Given the description of an element on the screen output the (x, y) to click on. 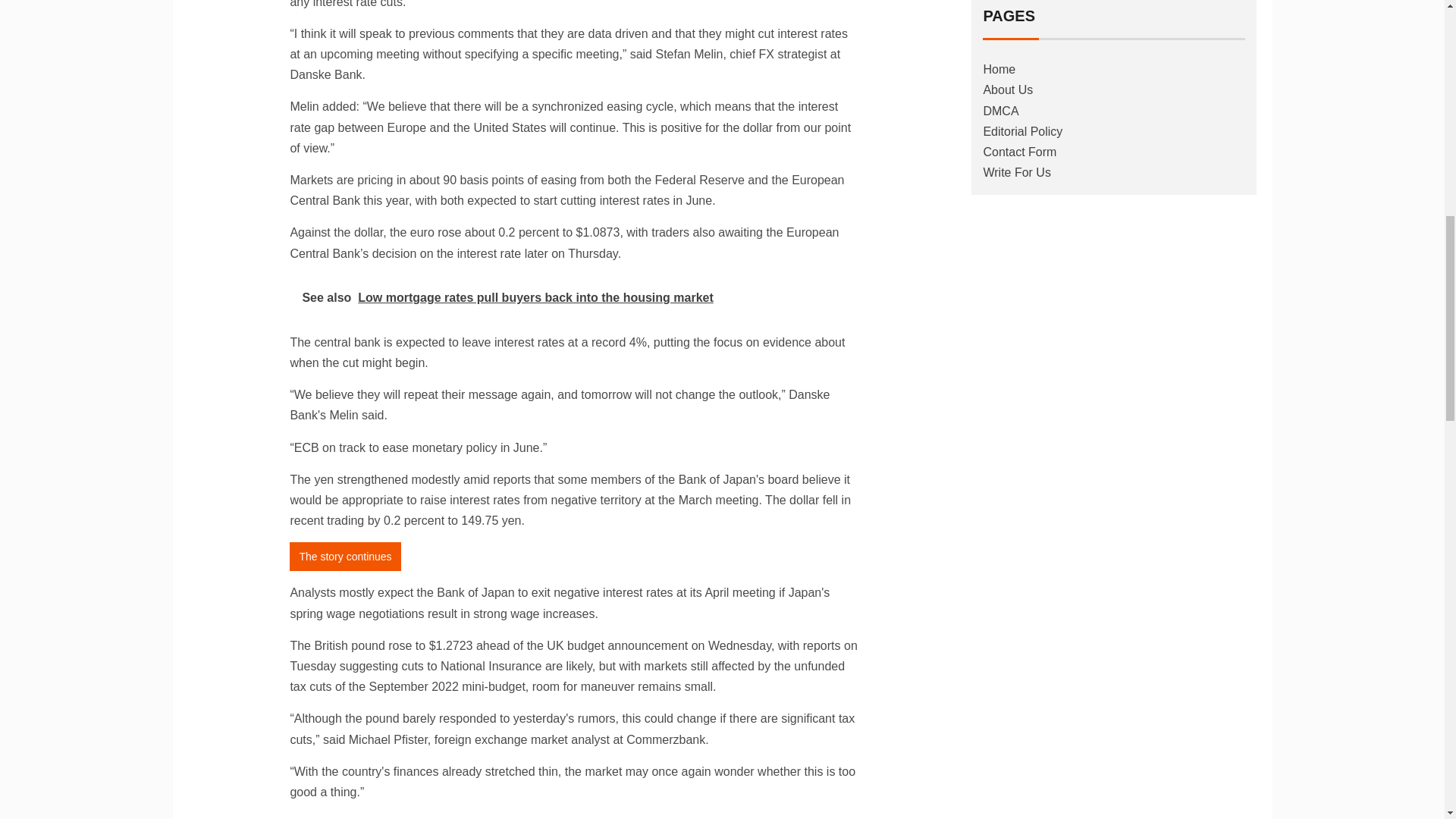
The story continues (344, 556)
